Given the description of an element on the screen output the (x, y) to click on. 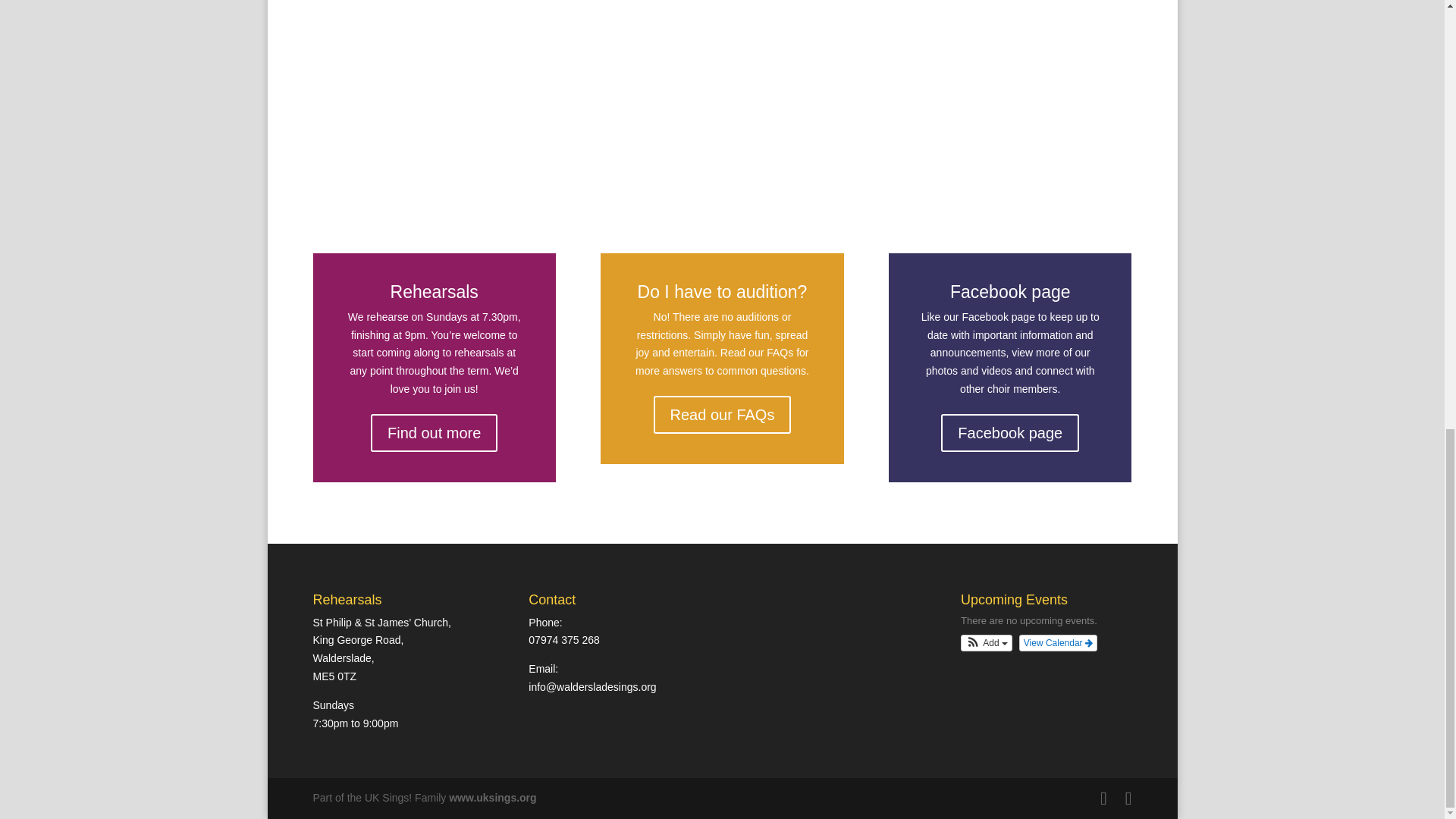
Facebook page (1009, 433)
Find out more (434, 433)
View Calendar (1058, 642)
www.uksings.org (491, 797)
Read our FAQs (722, 414)
